Given the description of an element on the screen output the (x, y) to click on. 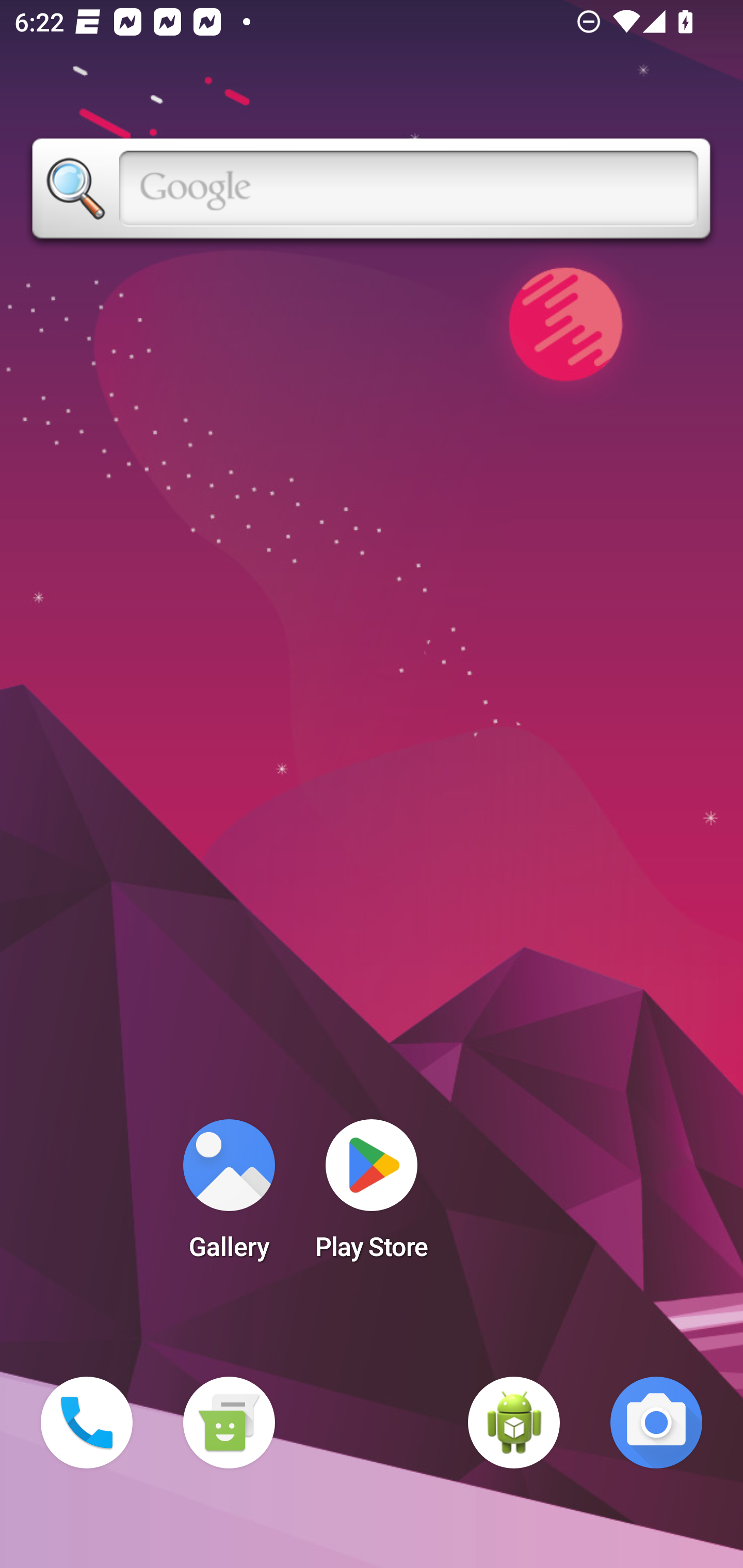
Gallery (228, 1195)
Play Store (371, 1195)
Phone (86, 1422)
Messaging (228, 1422)
WebView Browser Tester (513, 1422)
Camera (656, 1422)
